Given the description of an element on the screen output the (x, y) to click on. 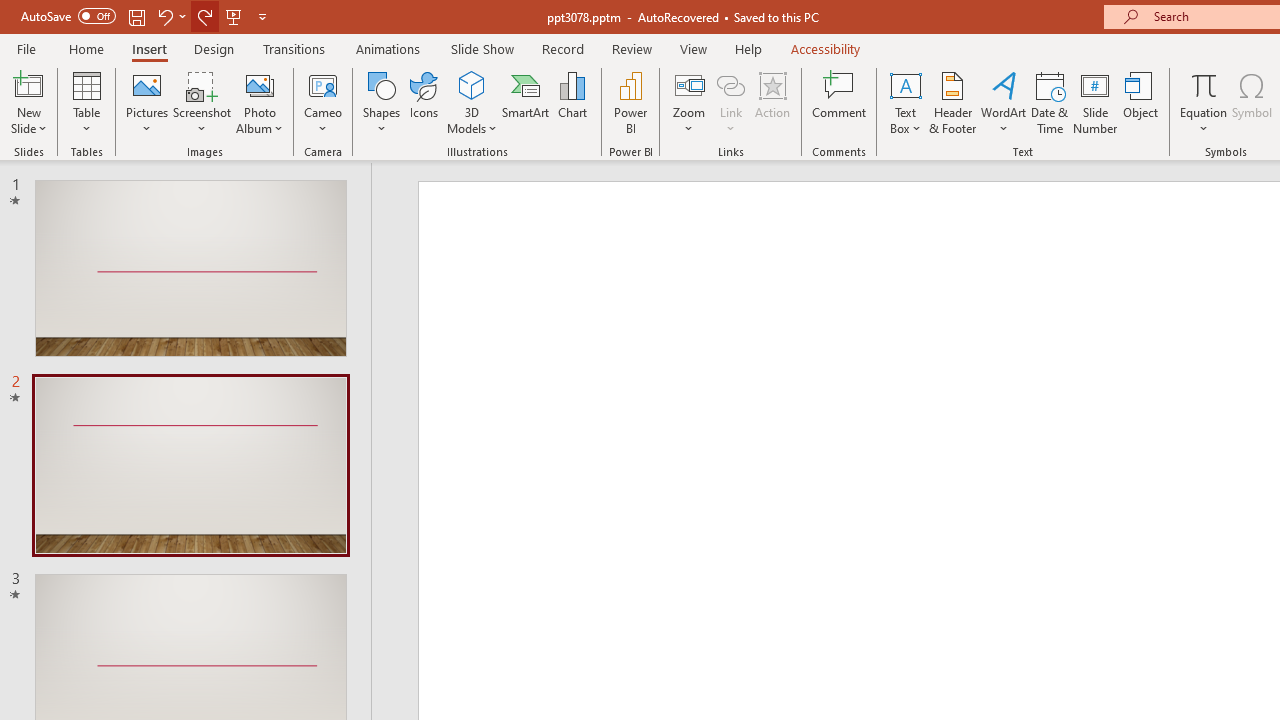
Photo Album... (259, 102)
Draw Horizontal Text Box (905, 84)
WordArt (1004, 102)
Icons (424, 102)
Table (86, 102)
